Given the description of an element on the screen output the (x, y) to click on. 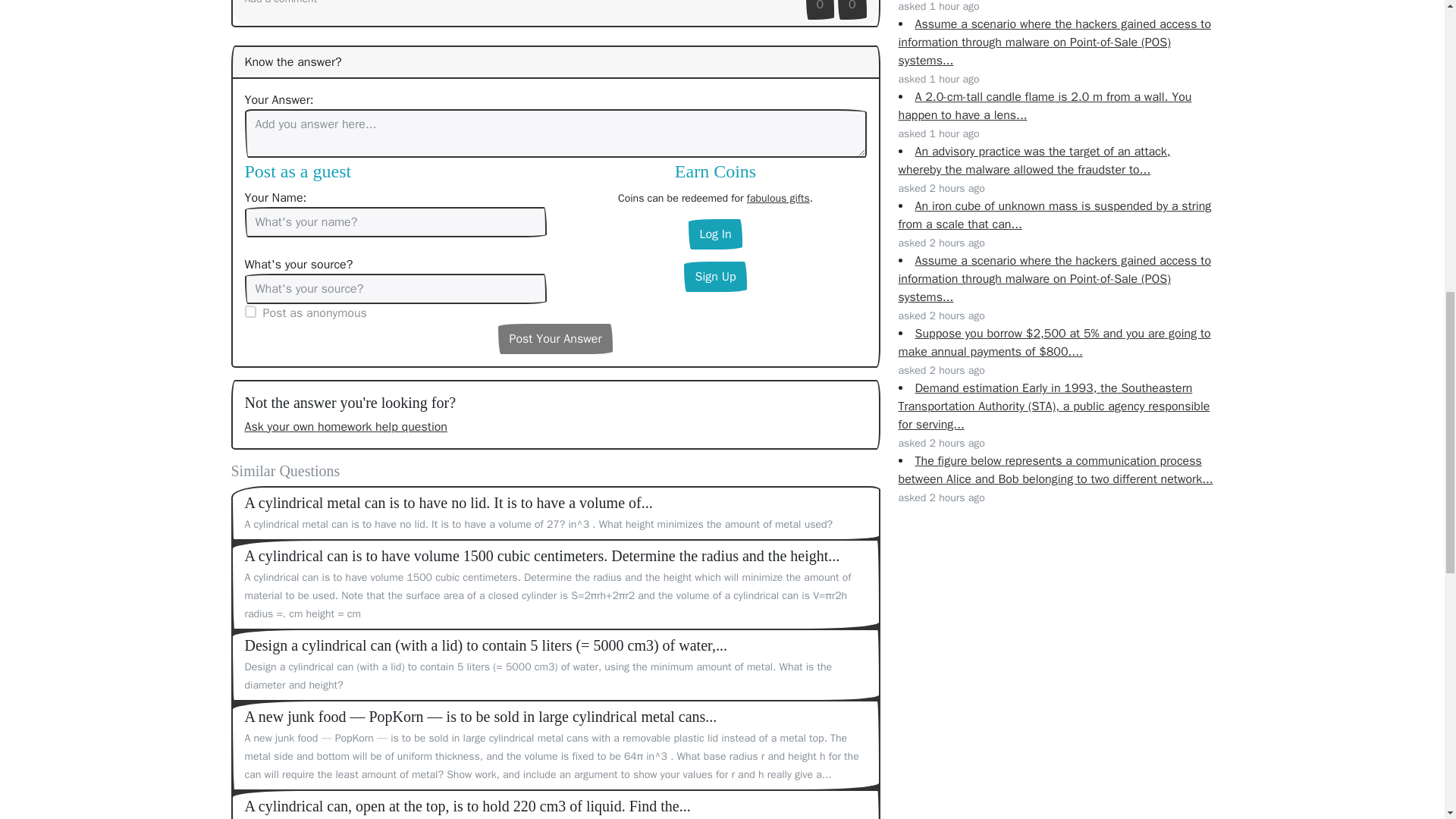
Post Your Answer (554, 338)
This is unclear or not useful (852, 9)
0 (820, 9)
Log In (714, 234)
fabulous gifts (777, 197)
Ask your own homework help question (345, 426)
Add a comment (280, 2)
This is useful and clear (820, 9)
Sign Up (714, 276)
0 (852, 9)
